Given the description of an element on the screen output the (x, y) to click on. 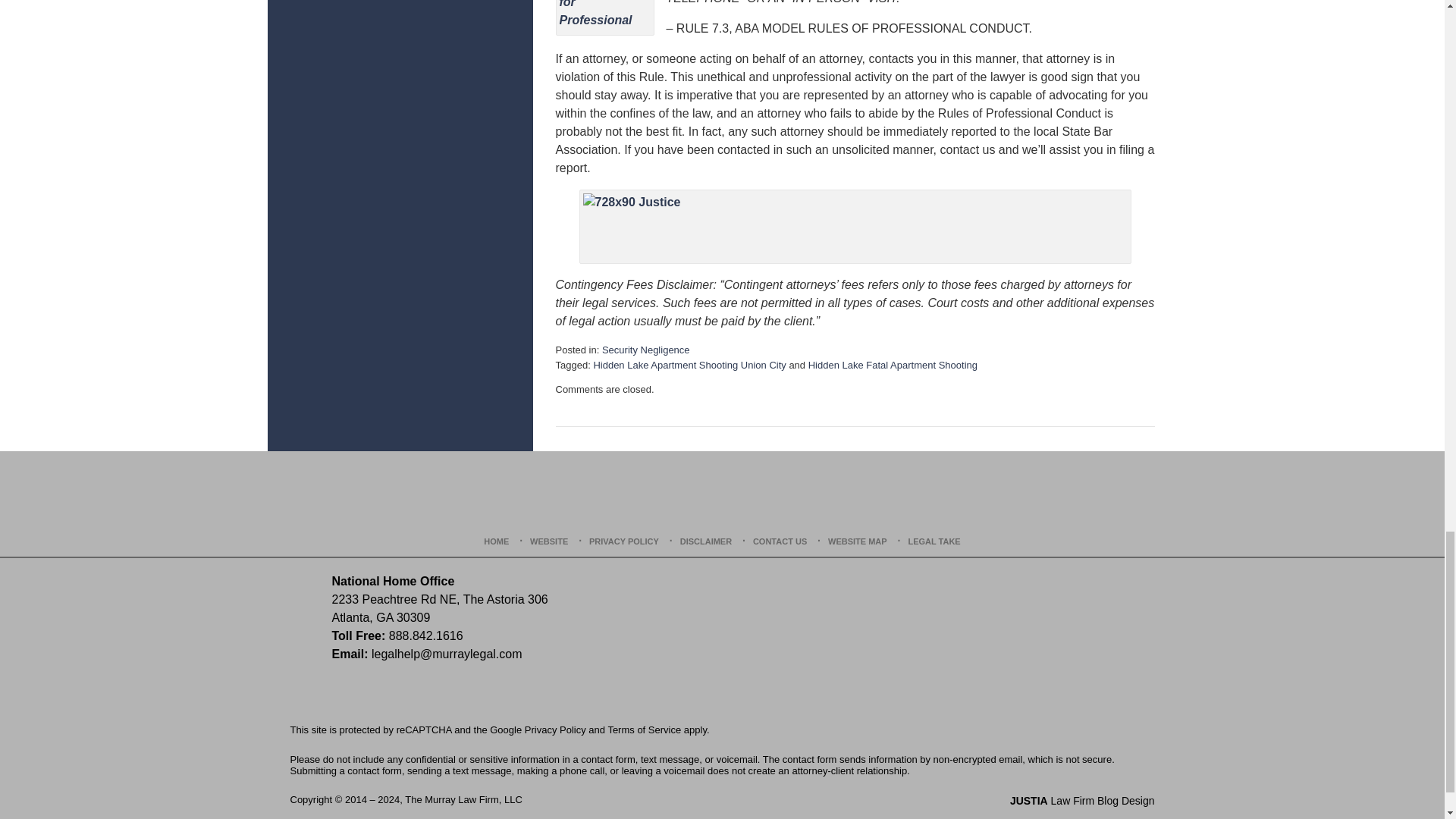
Hidden Lake Apartment Shooting Union City (689, 365)
Security Negligence (646, 349)
Hidden Lake Fatal Apartment Shooting (892, 365)
View all posts in Security Negligence (646, 349)
